Given the description of an element on the screen output the (x, y) to click on. 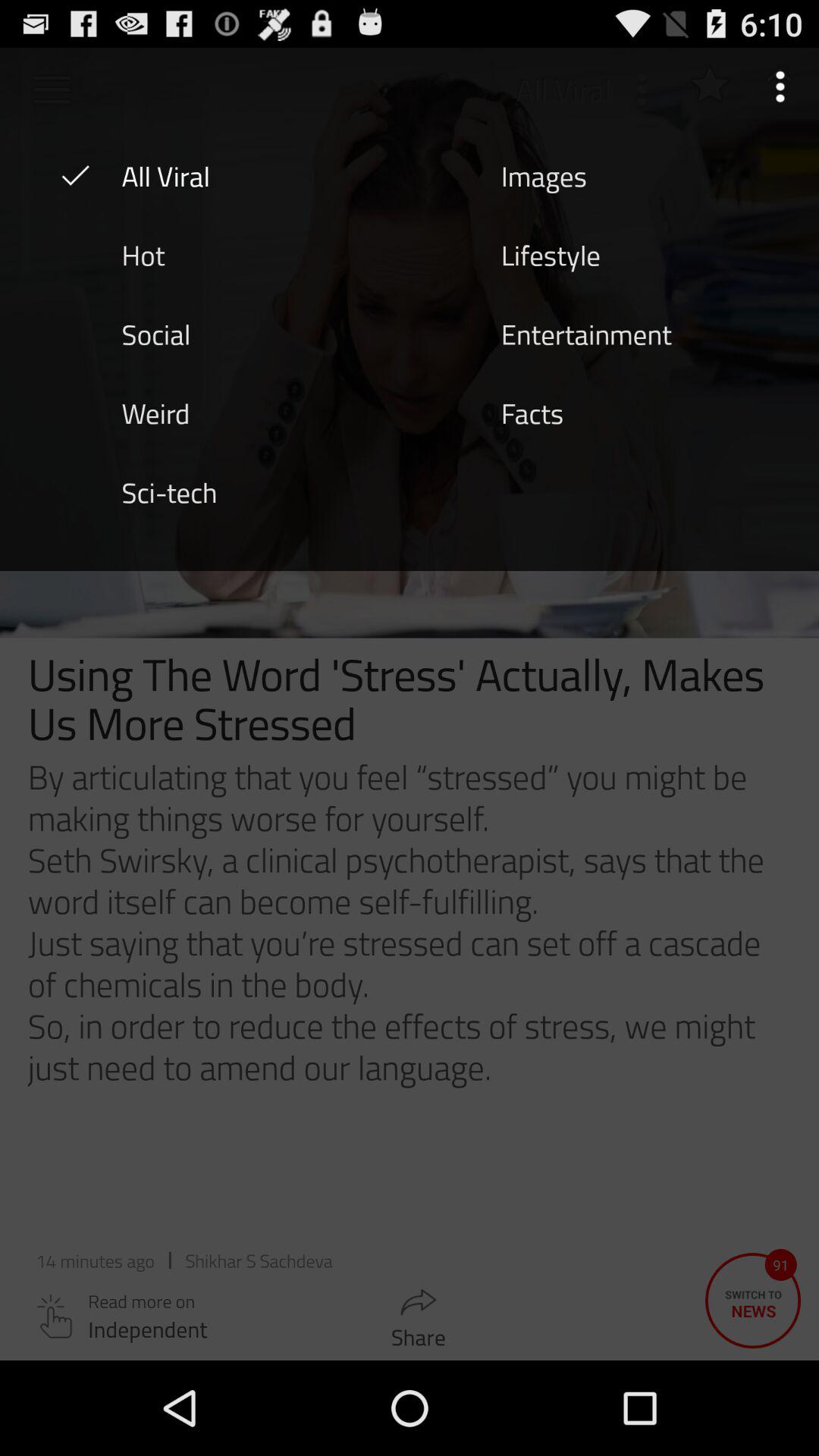
open icon above sci-tech icon (155, 411)
